Given the description of an element on the screen output the (x, y) to click on. 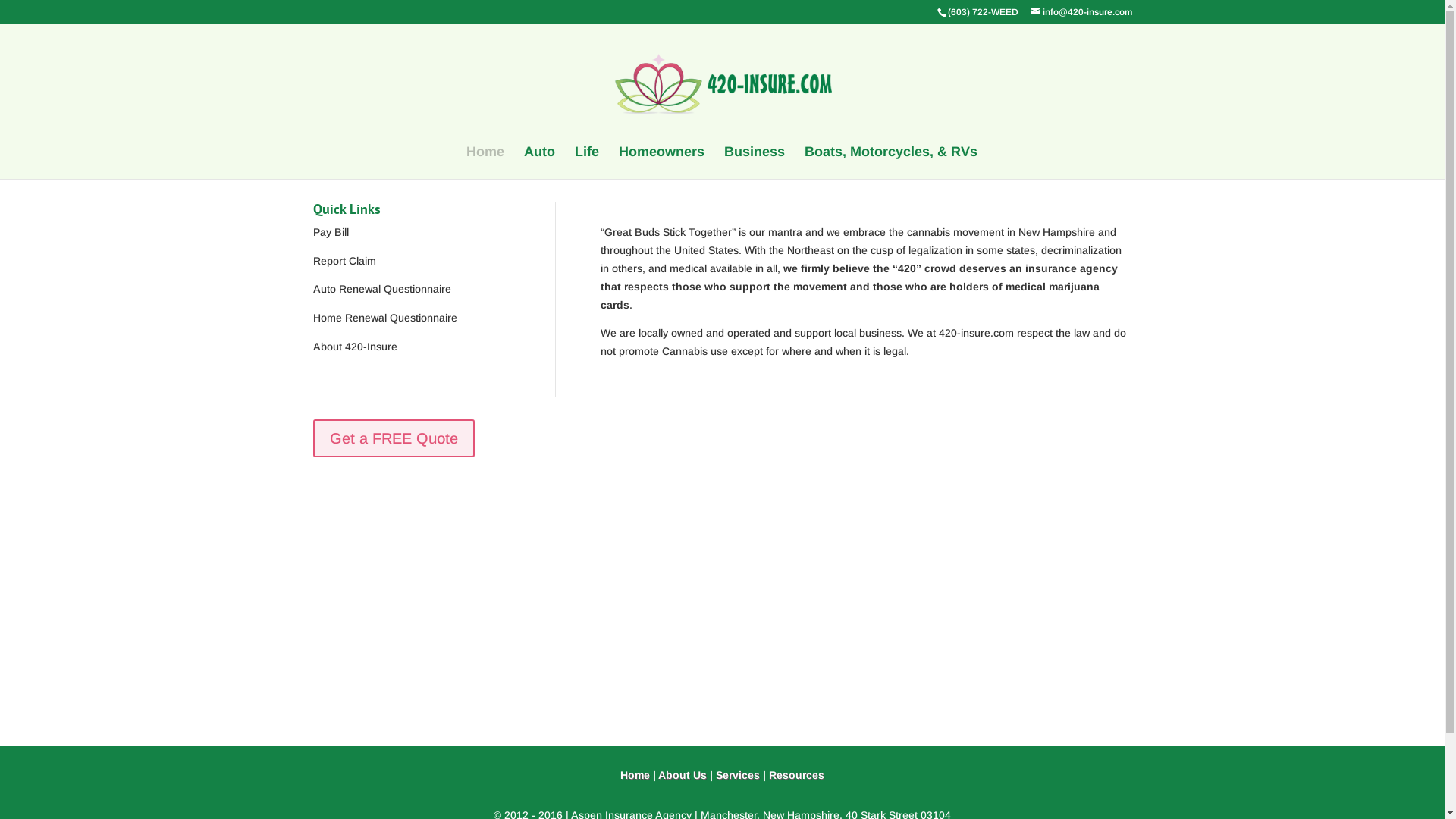
Home Element type: text (634, 774)
Pay Bill Element type: text (330, 231)
Boats, Motorcycles, & RVs Element type: text (889, 162)
Auto Renewal Questionnaire Element type: text (381, 288)
info@420-insure.com Element type: text (1080, 11)
Life Element type: text (586, 162)
Home Renewal Questionnaire Element type: text (384, 317)
Home Element type: text (484, 162)
Resources Element type: text (796, 774)
Homeowners Element type: text (661, 162)
Business Element type: text (753, 162)
Auto Element type: text (538, 162)
Services Element type: text (737, 774)
Get a FREE Quote Element type: text (392, 438)
Report Claim Element type: text (343, 260)
About 420-Insure Element type: text (354, 346)
About Us Element type: text (682, 774)
